Given the description of an element on the screen output the (x, y) to click on. 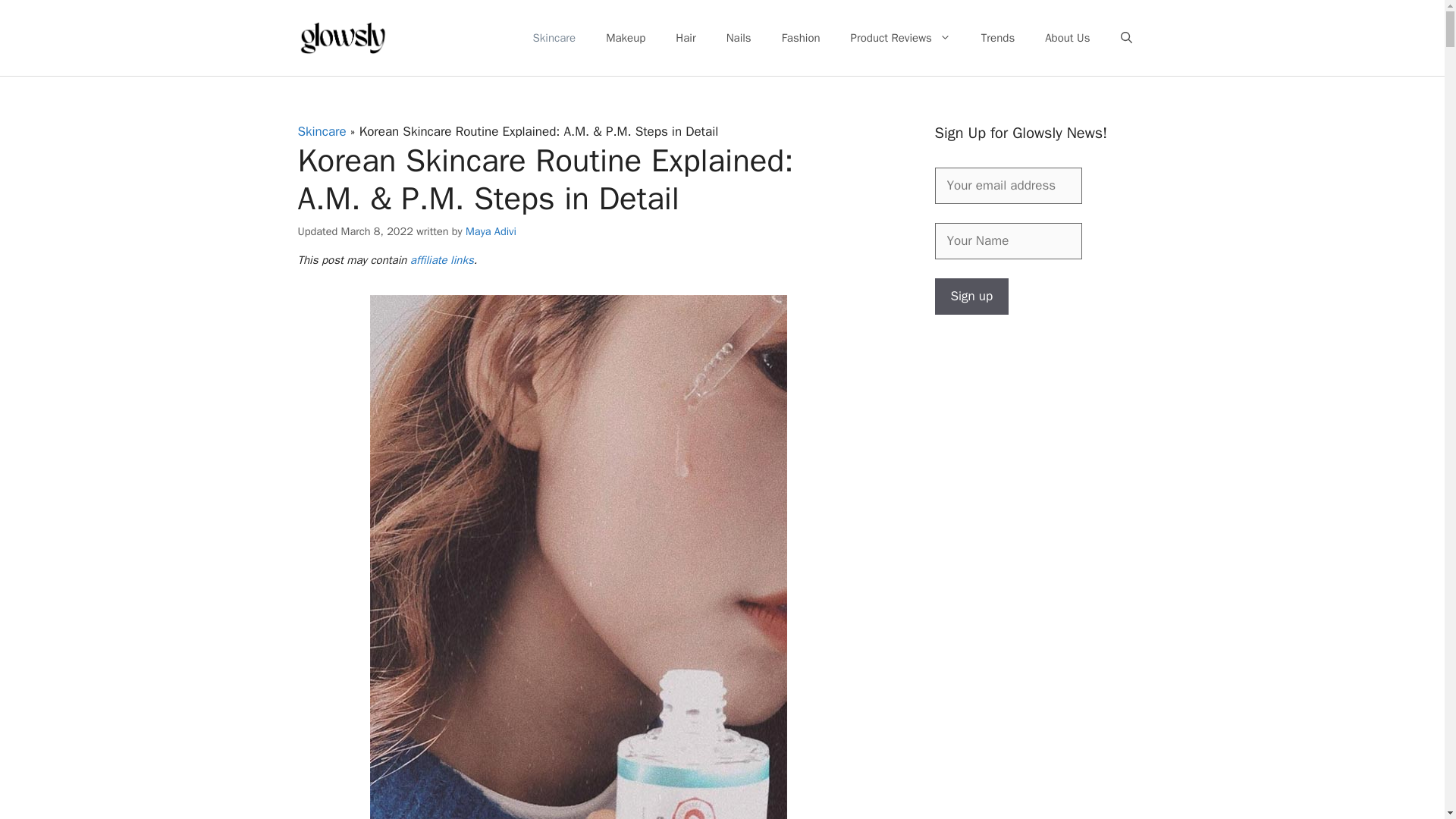
Makeup (626, 37)
Skincare (321, 131)
Nails (739, 37)
View all posts by Maya Adivi (490, 231)
Sign up (971, 296)
Glowsly (342, 37)
affiliate links (442, 259)
Glowsly (342, 36)
Trends (997, 37)
Skincare (554, 37)
